Given the description of an element on the screen output the (x, y) to click on. 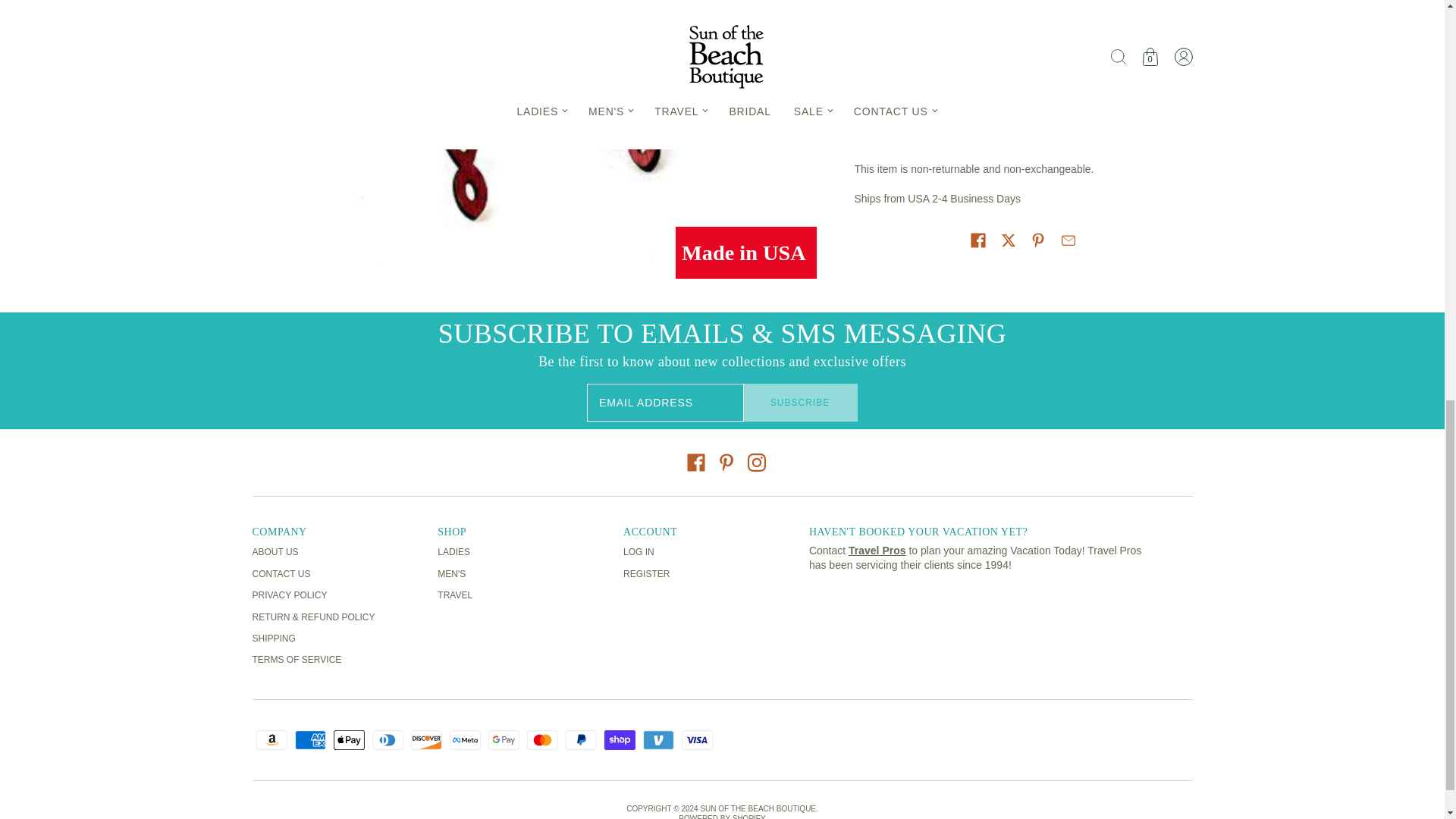
Amazon (271, 740)
Apple Pay (349, 740)
American Express (309, 740)
Diners Club (387, 740)
Discover (426, 740)
